Given the description of an element on the screen output the (x, y) to click on. 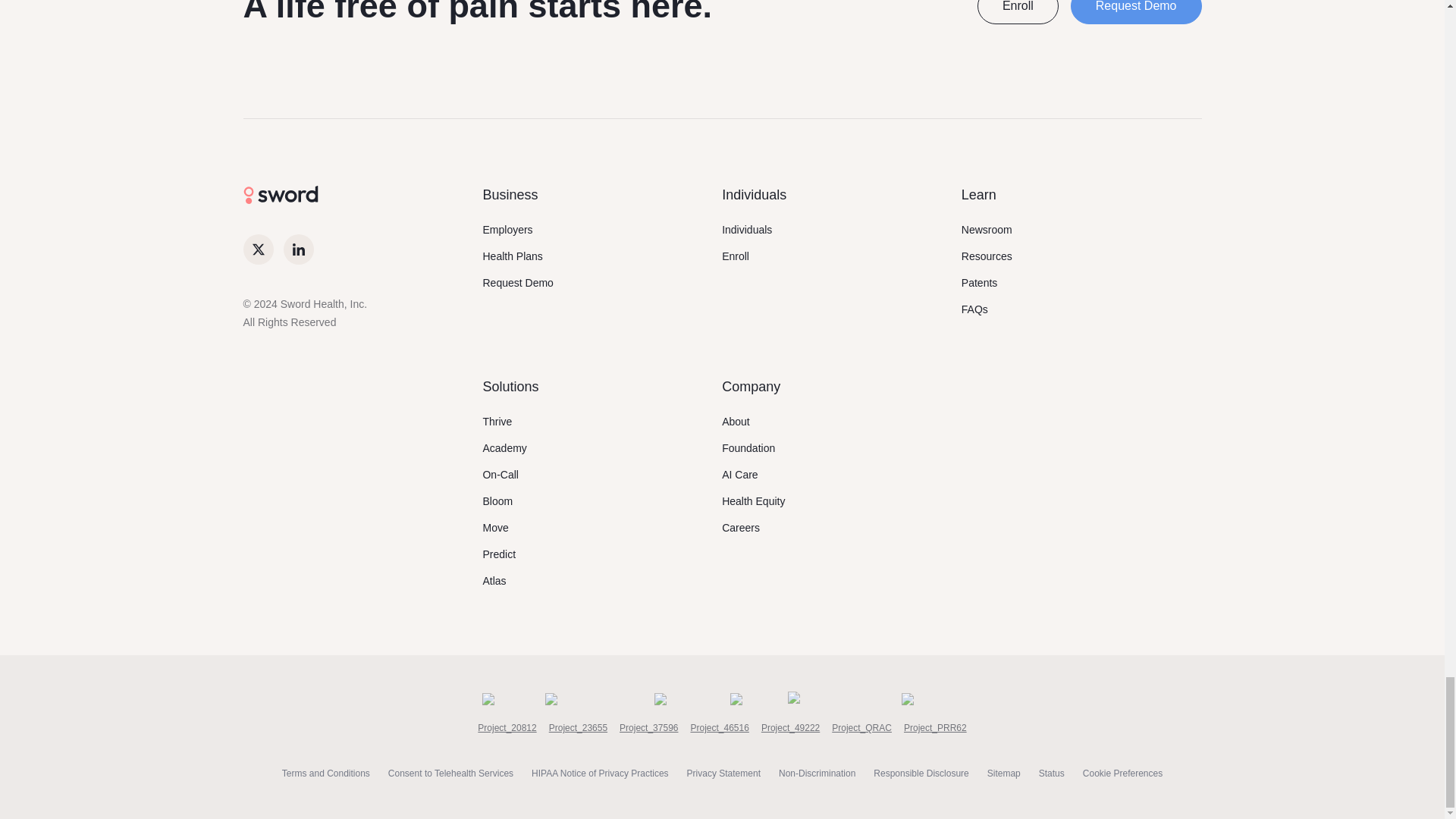
Request Demo (1136, 12)
Request Demo (517, 282)
Resources (985, 255)
Patents (978, 282)
Enroll (1017, 12)
Employers (506, 229)
Enroll (735, 255)
Newsroom (985, 229)
Individuals (746, 229)
Health Plans (511, 255)
